Given the description of an element on the screen output the (x, y) to click on. 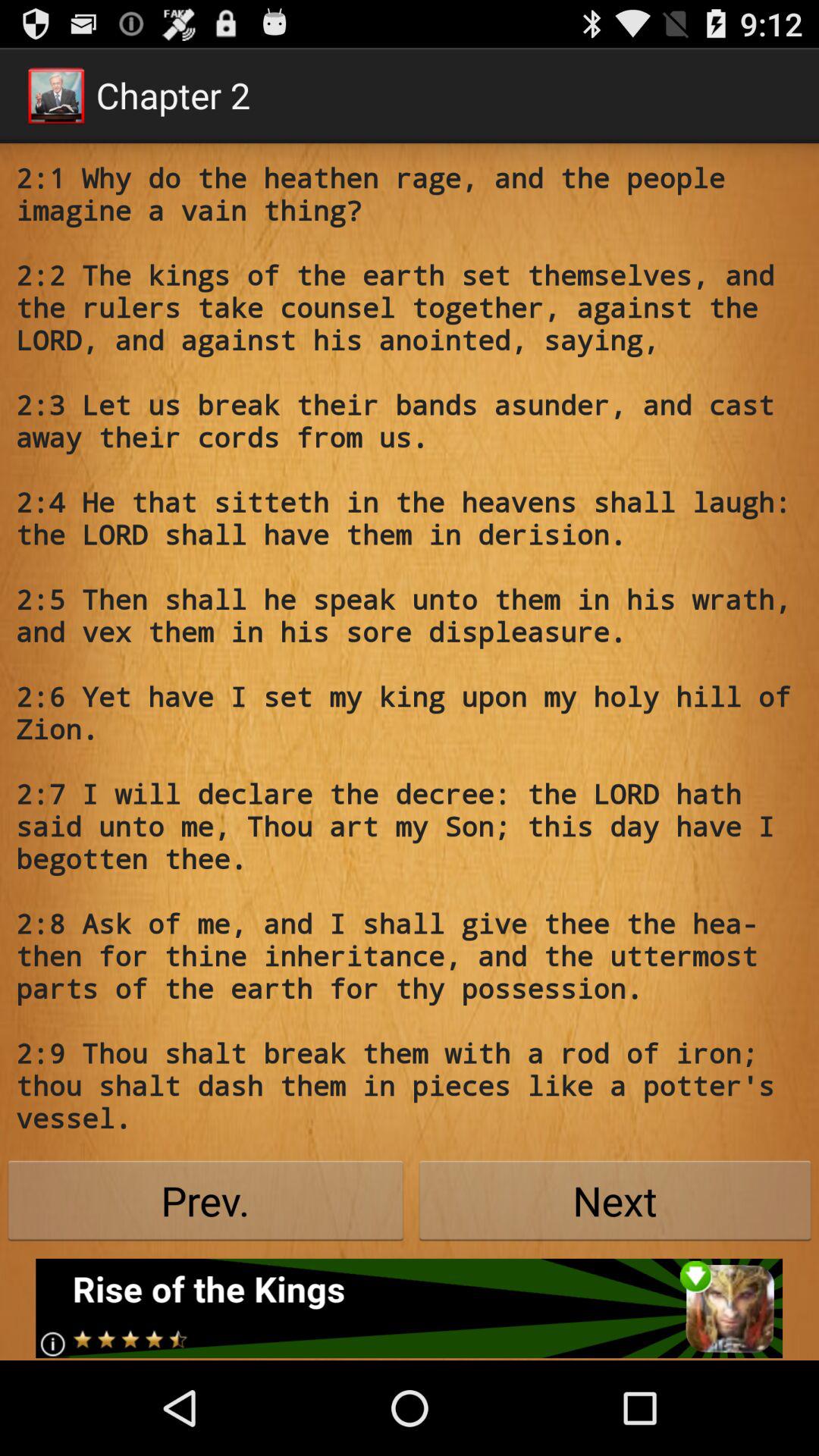
advertisement (408, 1308)
